Given the description of an element on the screen output the (x, y) to click on. 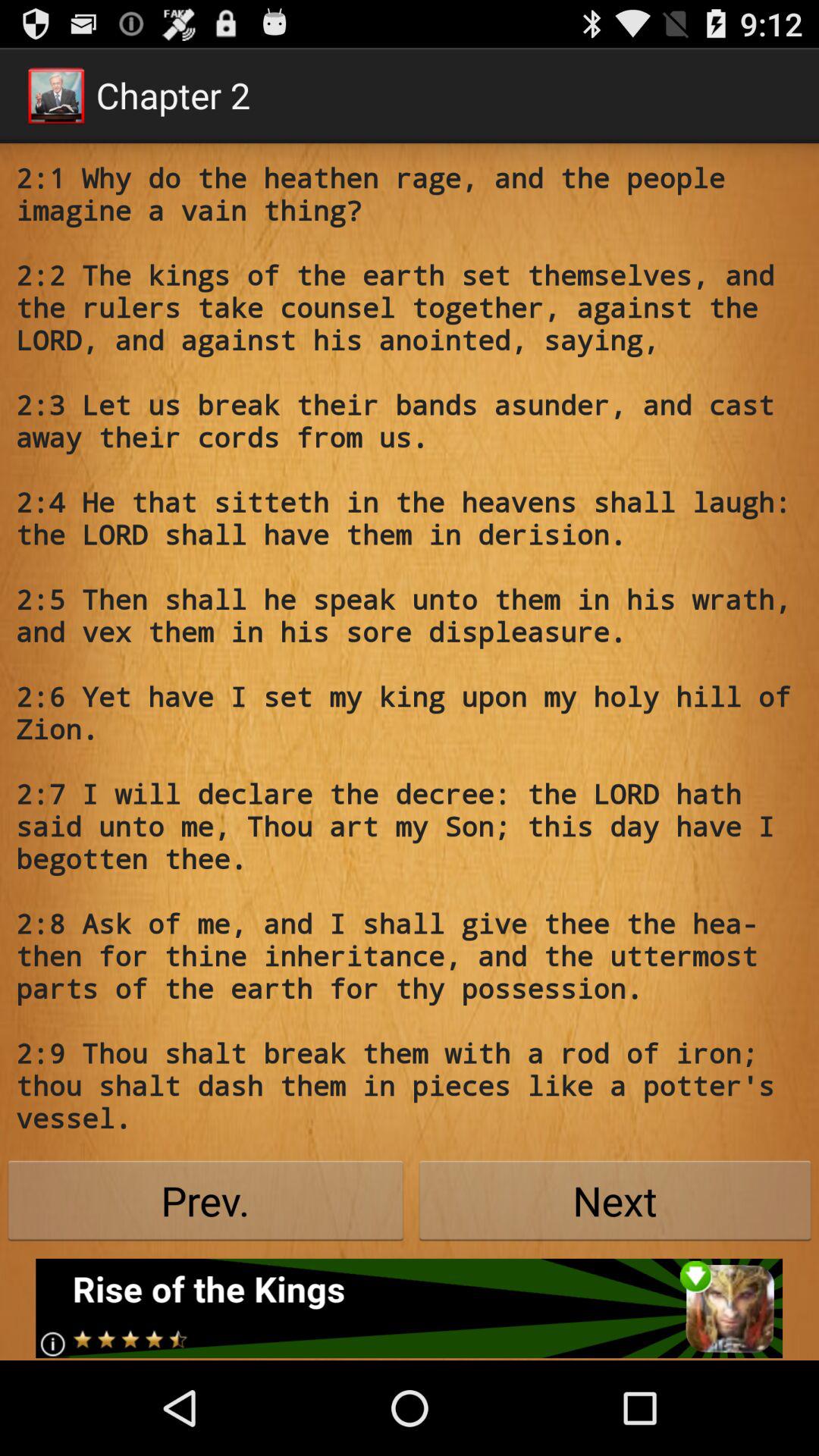
advertisement (408, 1308)
